Given the description of an element on the screen output the (x, y) to click on. 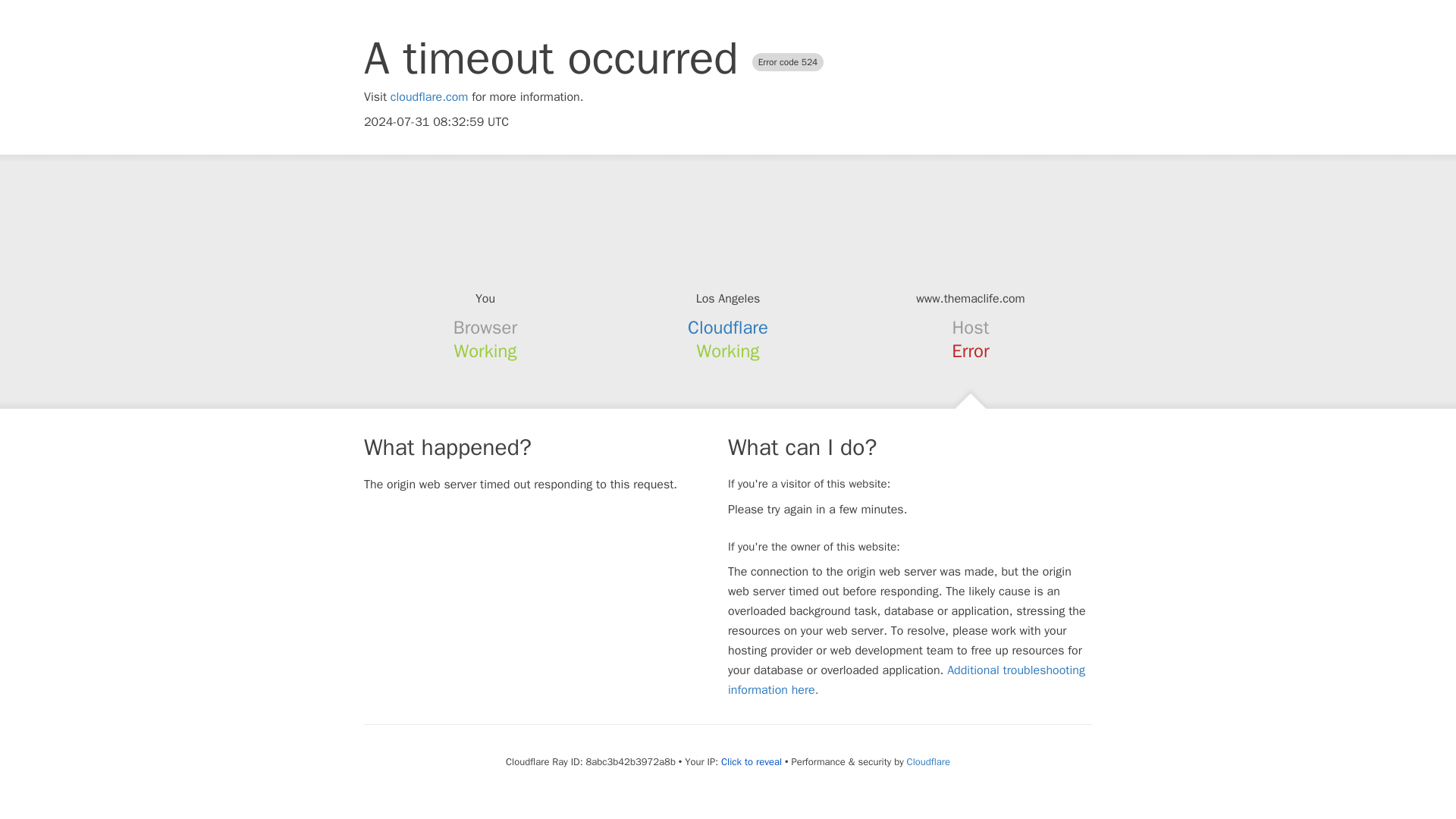
Additional troubleshooting information here. (906, 679)
Click to reveal (750, 762)
Cloudflare (928, 761)
cloudflare.com (429, 96)
Cloudflare (727, 327)
